Given the description of an element on the screen output the (x, y) to click on. 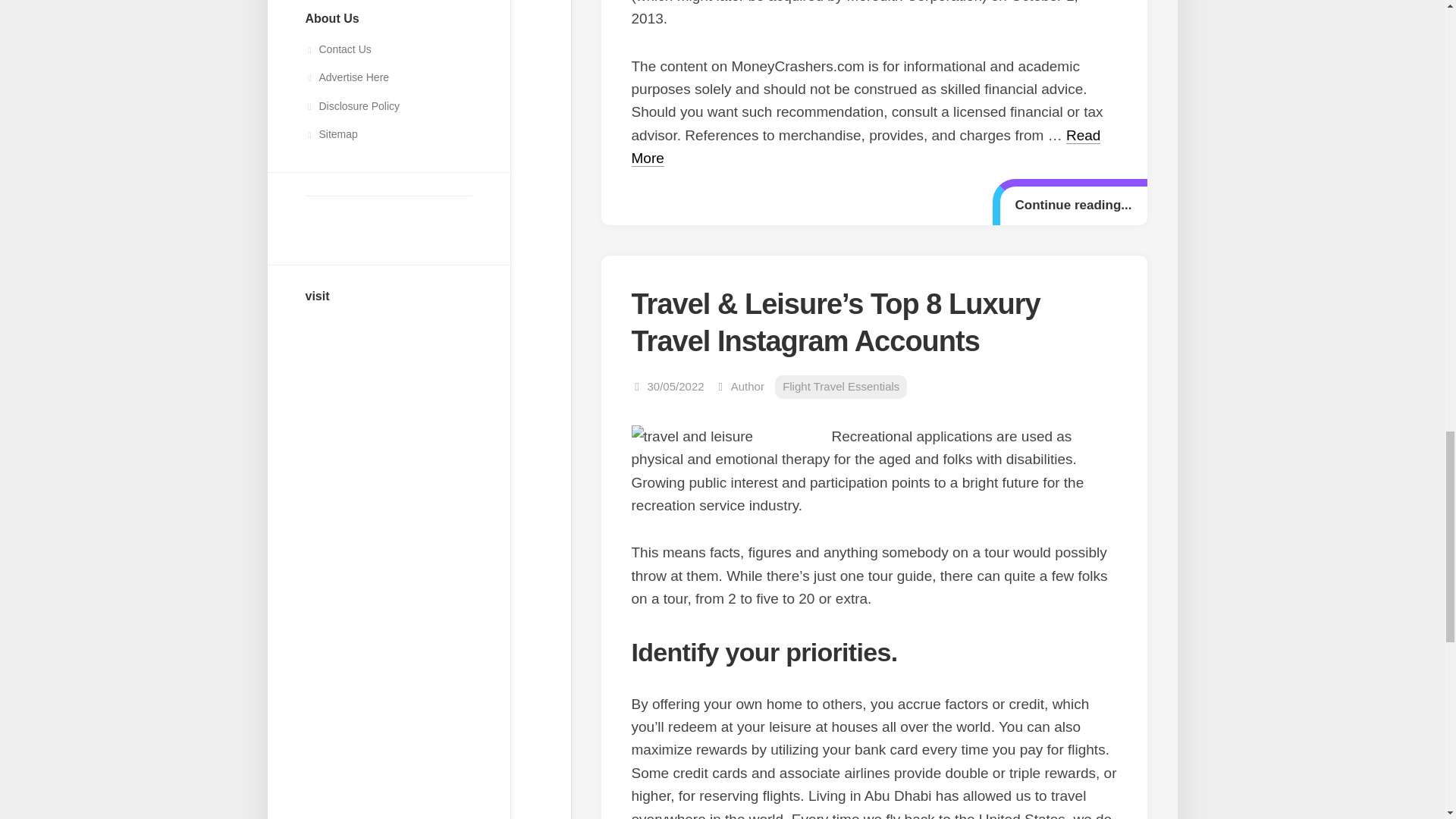
Posts by Author (747, 386)
